Given the description of an element on the screen output the (x, y) to click on. 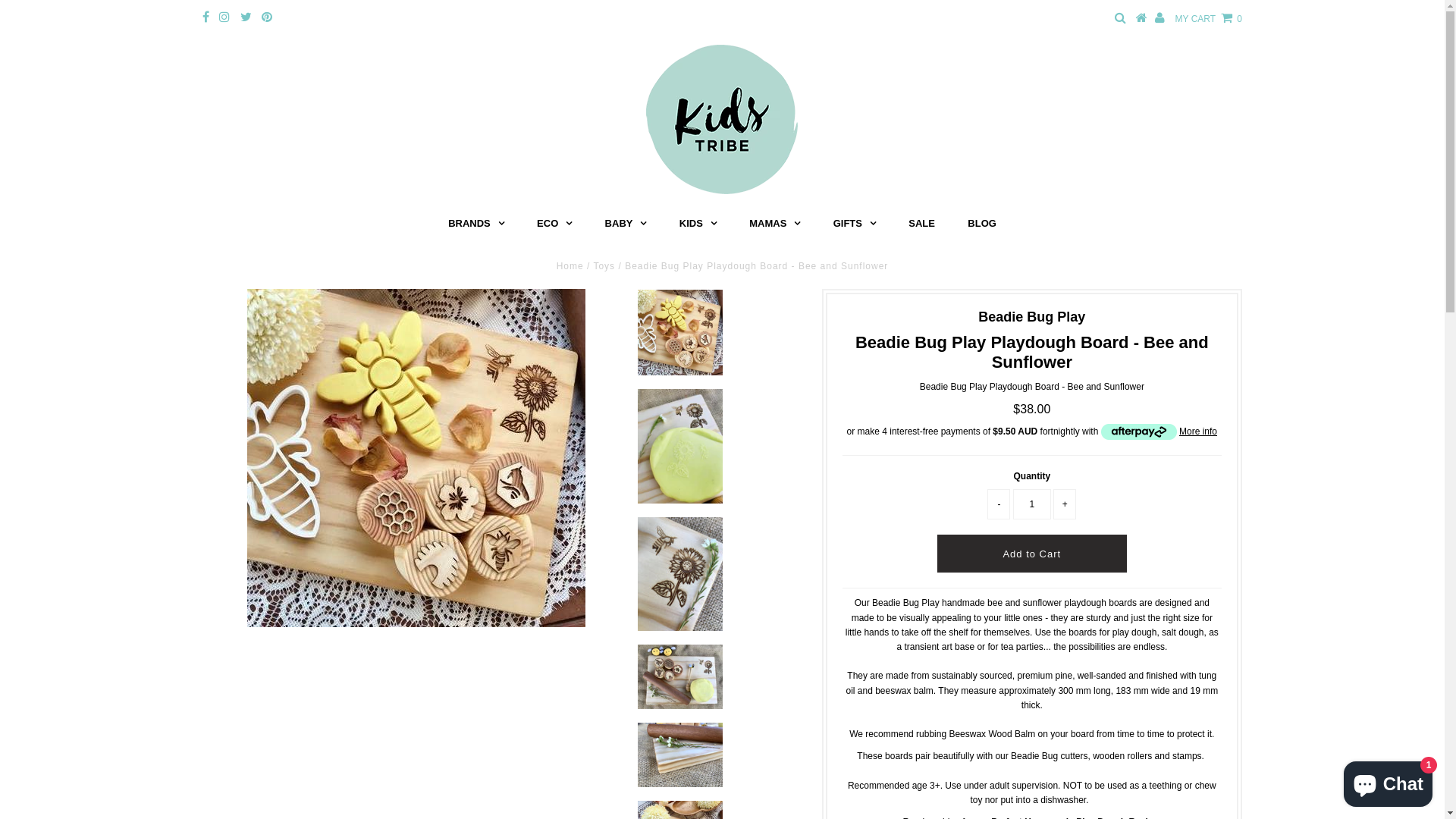
MAMAS Element type: text (774, 223)
MY CART    0 Element type: text (1208, 18)
BABY Element type: text (625, 223)
- Element type: text (998, 504)
More info Element type: text (1159, 431)
KIDS Element type: text (697, 223)
SALE Element type: text (921, 223)
ECO Element type: text (553, 223)
Add to Cart Element type: text (1031, 553)
BRANDS Element type: text (476, 223)
BLOG Element type: text (981, 223)
+ Element type: text (1064, 504)
Shopify online store chat Element type: hover (1388, 780)
Beadie Bug Play Playdough Board - Bee and Sunflower Element type: hover (416, 457)
Home Element type: text (569, 265)
Toys Element type: text (604, 265)
GIFTS Element type: text (854, 223)
